Given the description of an element on the screen output the (x, y) to click on. 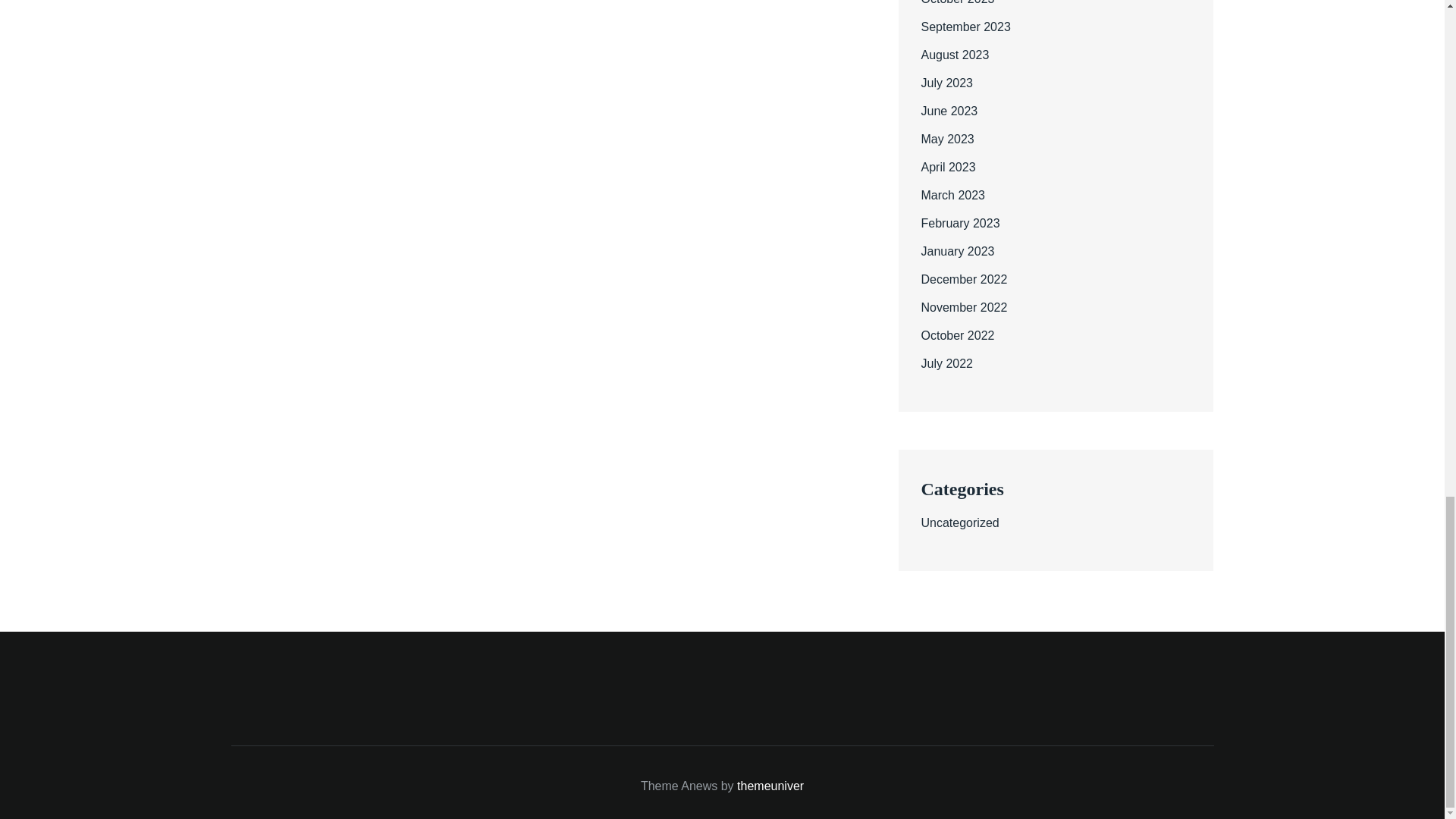
March 2023 (952, 195)
May 2023 (947, 138)
January 2023 (957, 250)
February 2023 (959, 223)
August 2023 (954, 54)
September 2023 (965, 26)
April 2023 (947, 166)
October 2023 (957, 2)
July 2023 (946, 82)
June 2023 (948, 110)
